Given the description of an element on the screen output the (x, y) to click on. 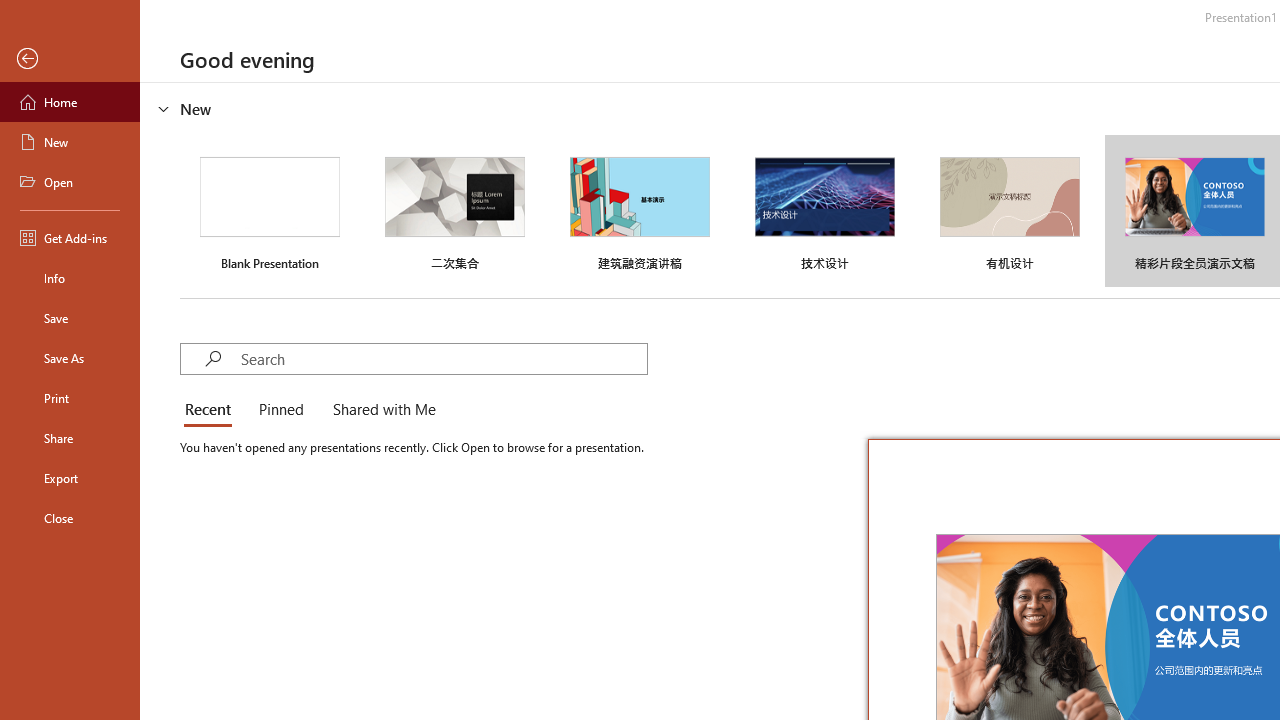
Blank Presentation (269, 211)
Hide or show region (164, 108)
Back (69, 59)
Get Add-ins (69, 237)
Print (69, 398)
Shared with Me (379, 410)
New (69, 141)
Save As (69, 357)
